Given the description of an element on the screen output the (x, y) to click on. 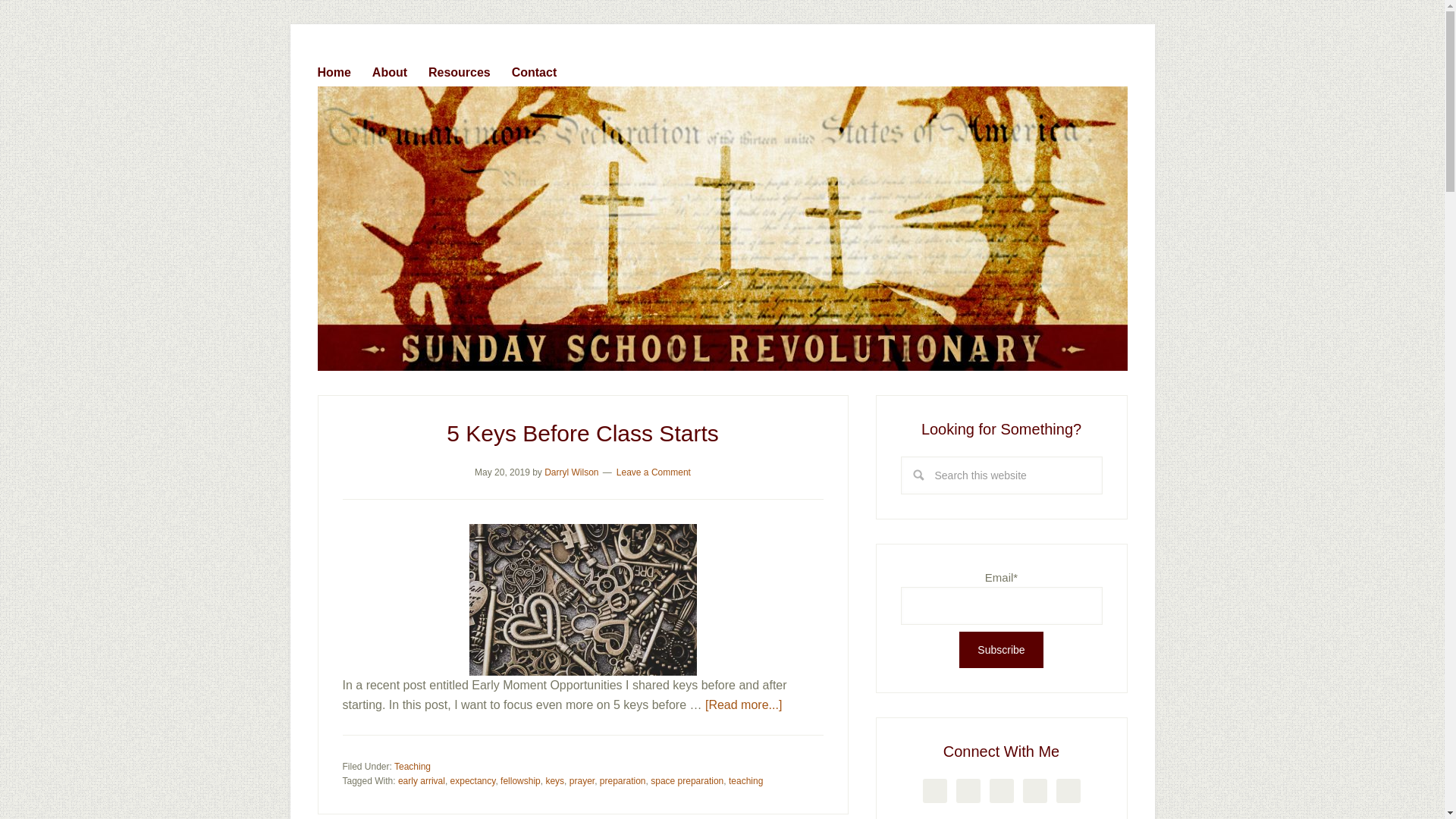
Leave a Comment (652, 471)
Subscribe (1000, 649)
Home (342, 68)
Teaching (412, 766)
fellowship (520, 780)
early arrival (421, 780)
Contact (543, 68)
Resources (468, 68)
keys (554, 780)
expectancy (472, 780)
5 Keys Before Class Starts (581, 432)
About (398, 68)
teaching (745, 780)
Darryl Wilson (571, 471)
space preparation (686, 780)
